Given the description of an element on the screen output the (x, y) to click on. 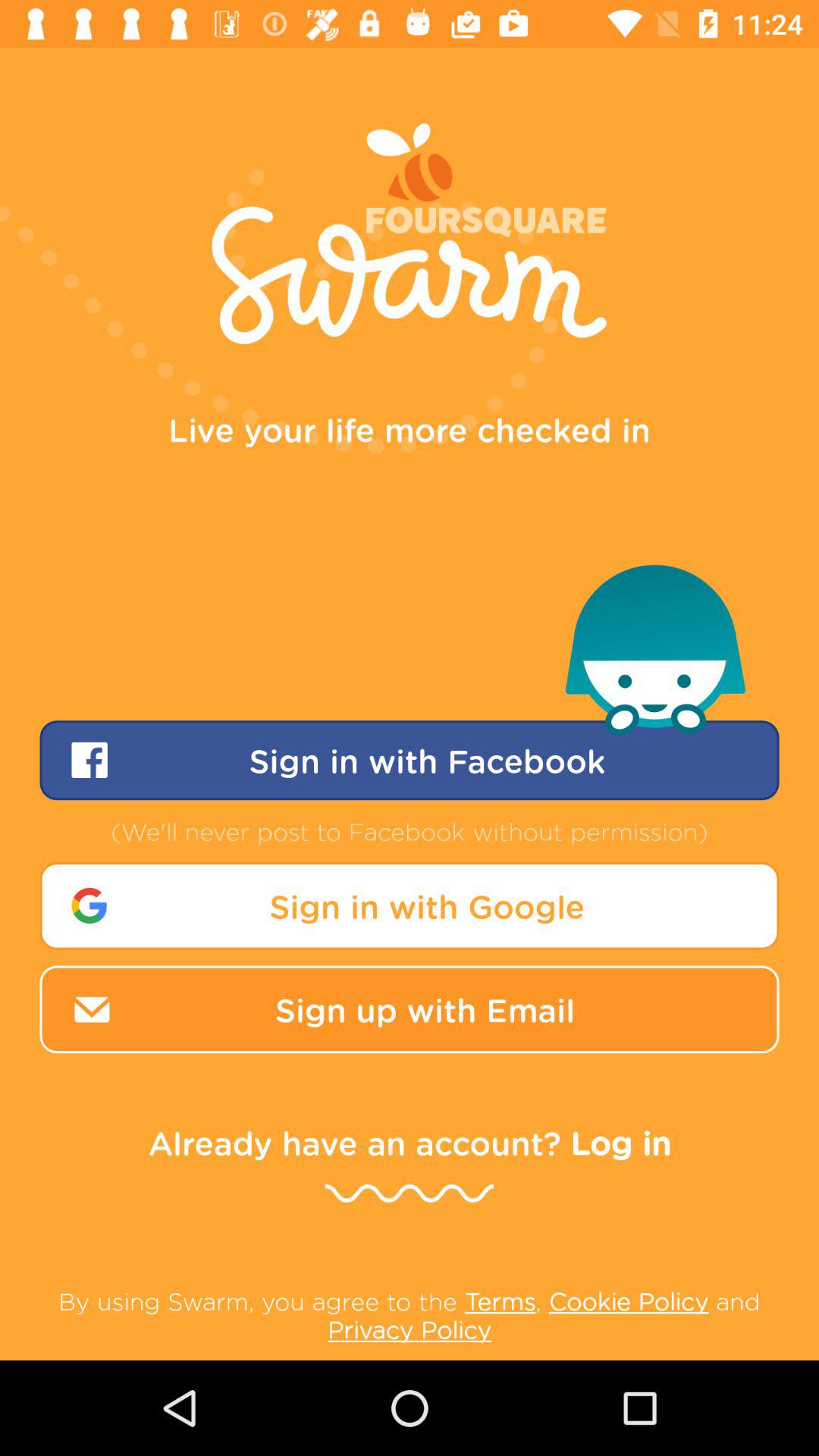
launch by using swarm item (409, 1315)
